Given the description of an element on the screen output the (x, y) to click on. 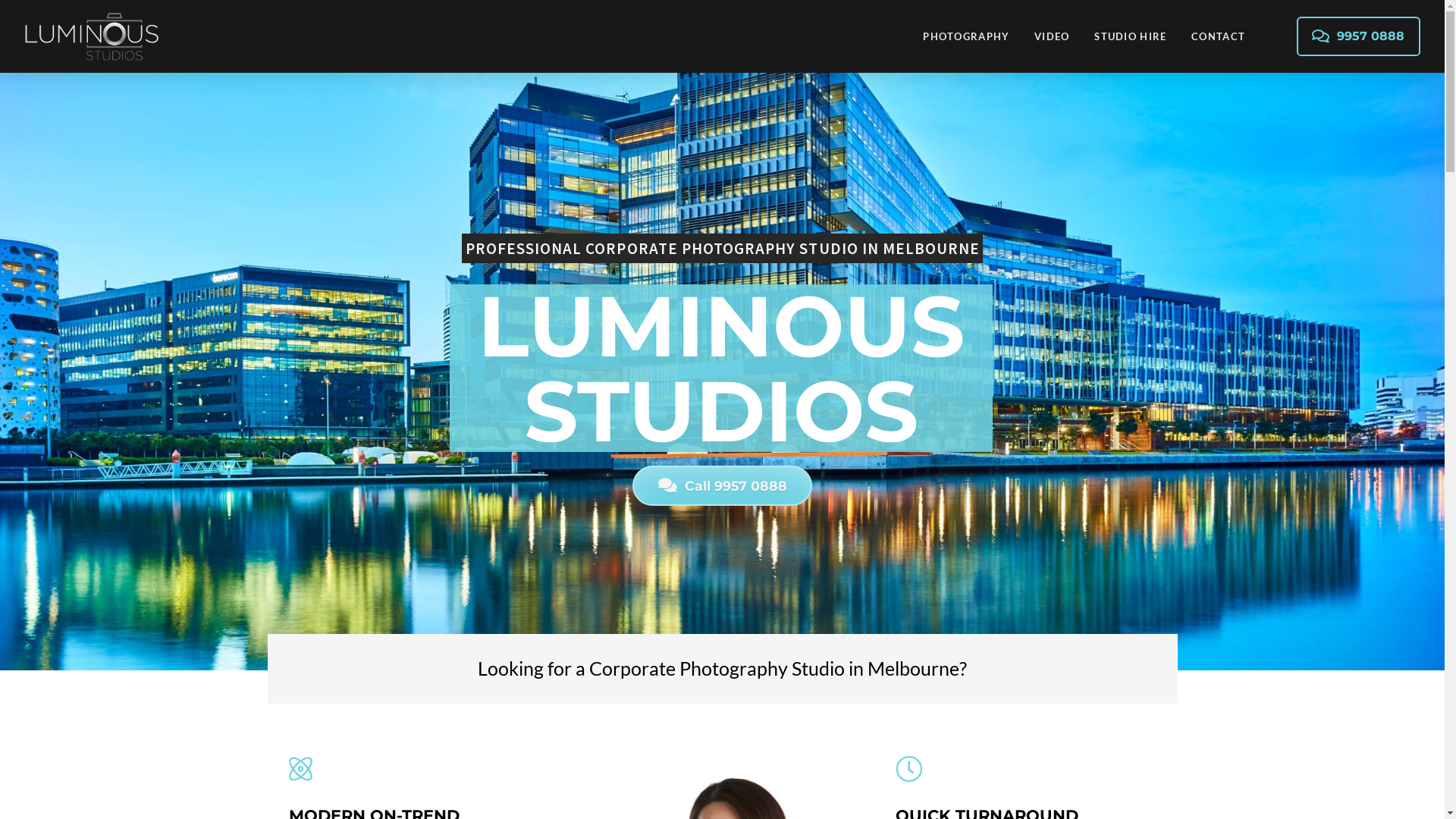
VIDEO Element type: text (1051, 36)
Call 9957 0888 Element type: text (722, 485)
9957 0888 Element type: text (1358, 36)
Send Element type: text (582, 642)
PHOTOGRAPHY Element type: text (965, 36)
STUDIO HIRE Element type: text (1129, 36)
CONTACT Element type: text (1217, 36)
